Given the description of an element on the screen output the (x, y) to click on. 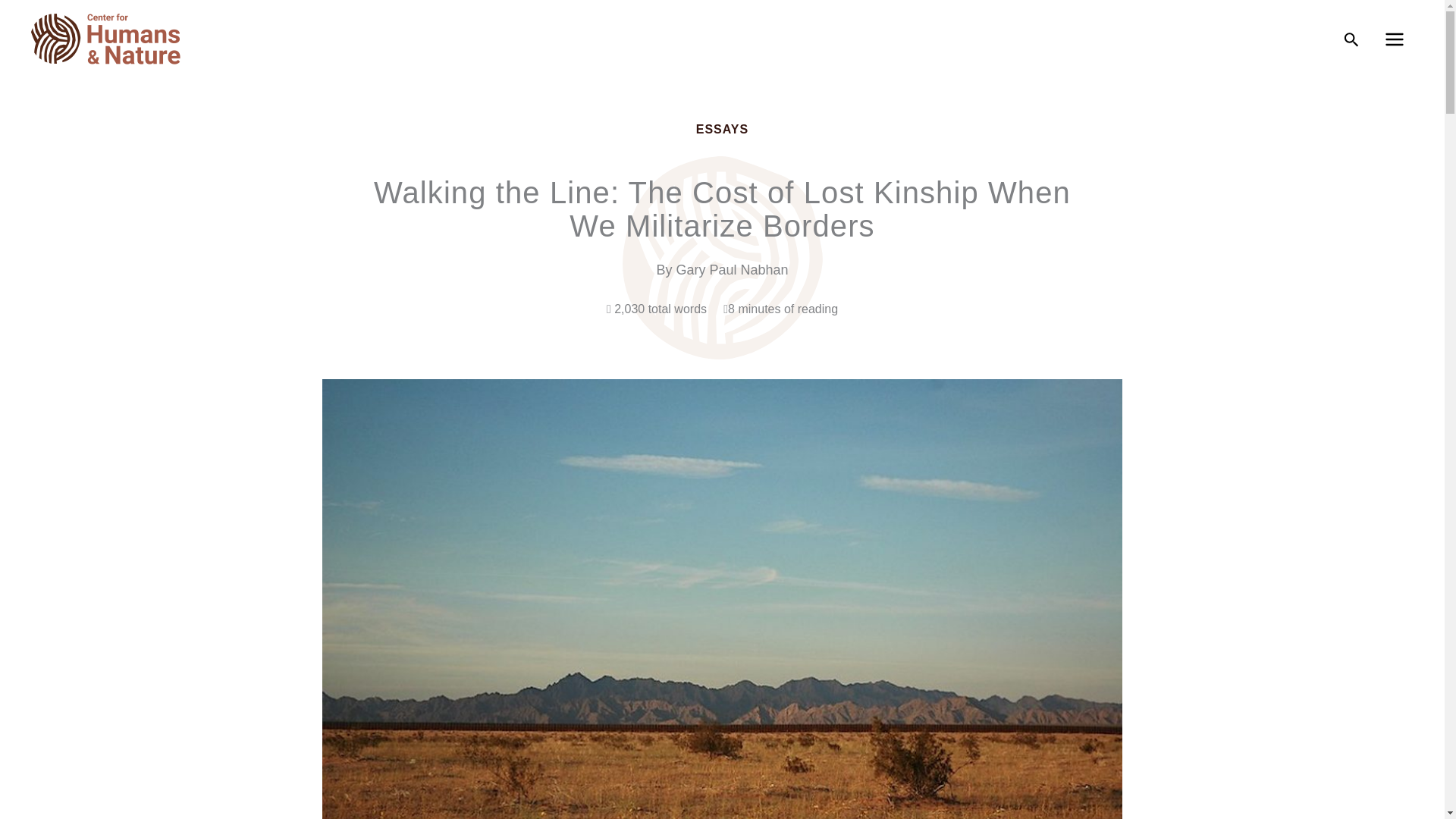
ESSAYS (721, 128)
Main Menu (1393, 39)
